Given the description of an element on the screen output the (x, y) to click on. 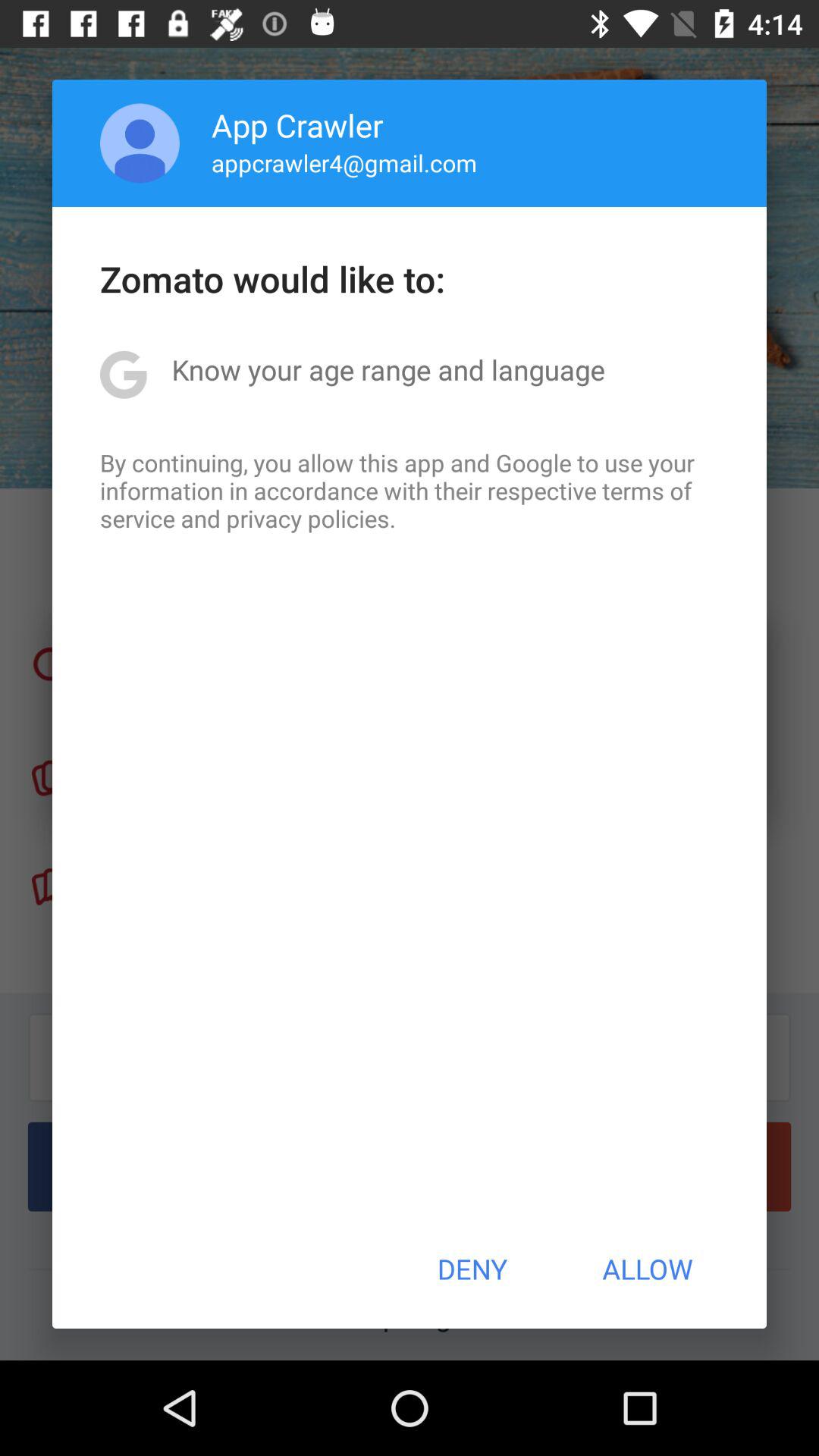
flip until the know your age (388, 369)
